Given the description of an element on the screen output the (x, y) to click on. 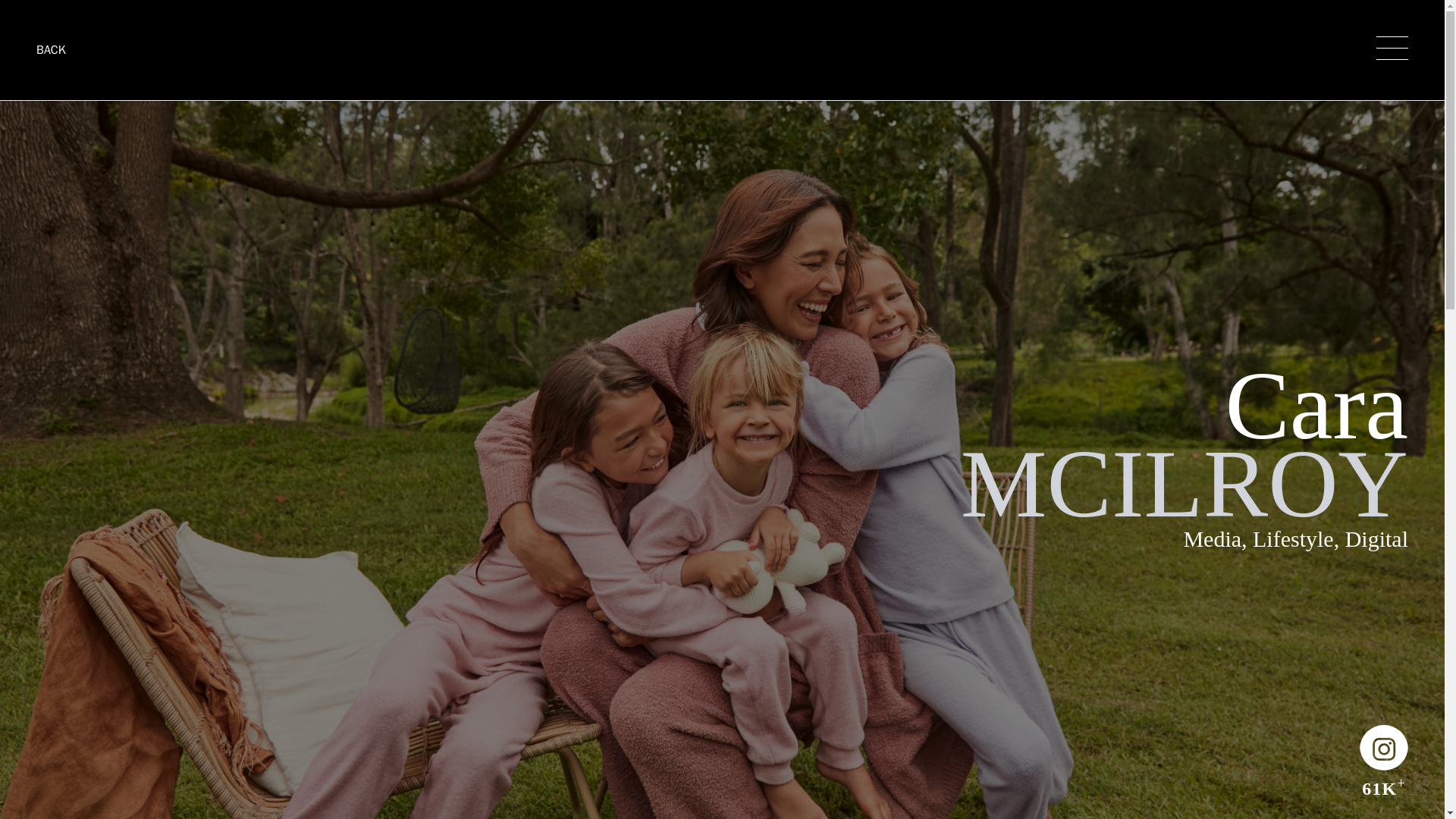
BACK (50, 49)
